Given the description of an element on the screen output the (x, y) to click on. 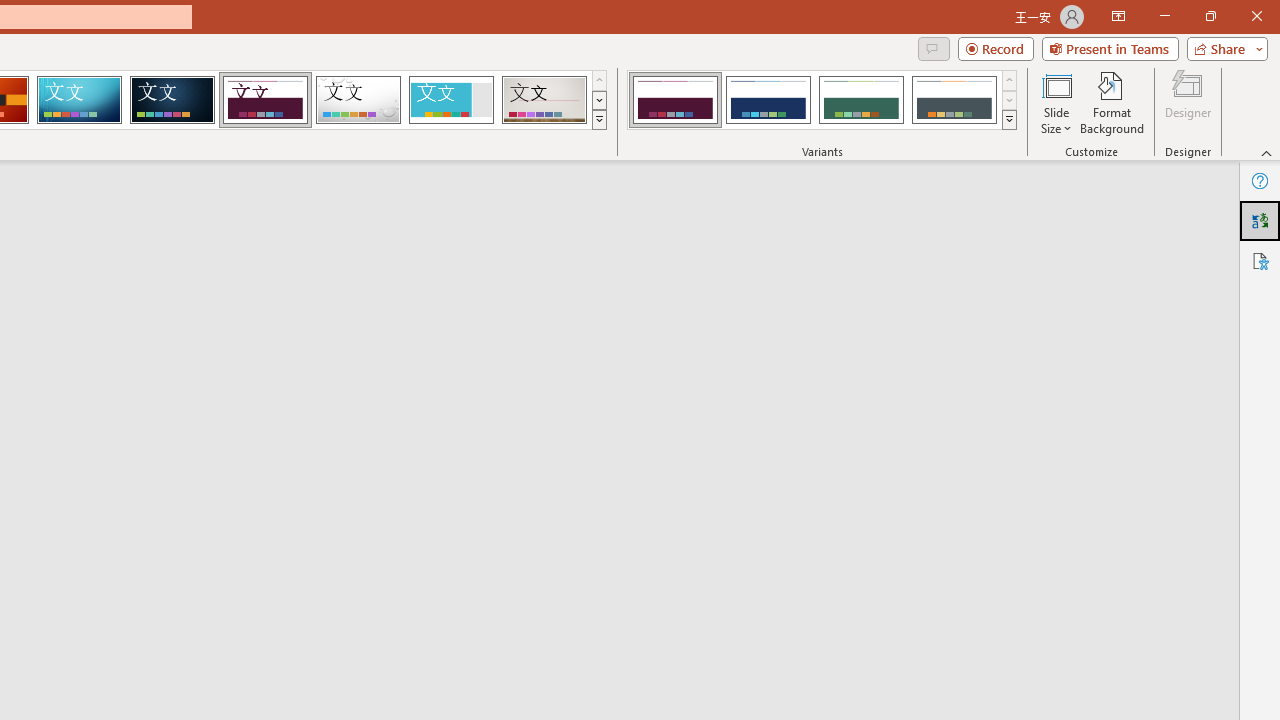
Droplet (358, 100)
Circuit (79, 100)
